Given the description of an element on the screen output the (x, y) to click on. 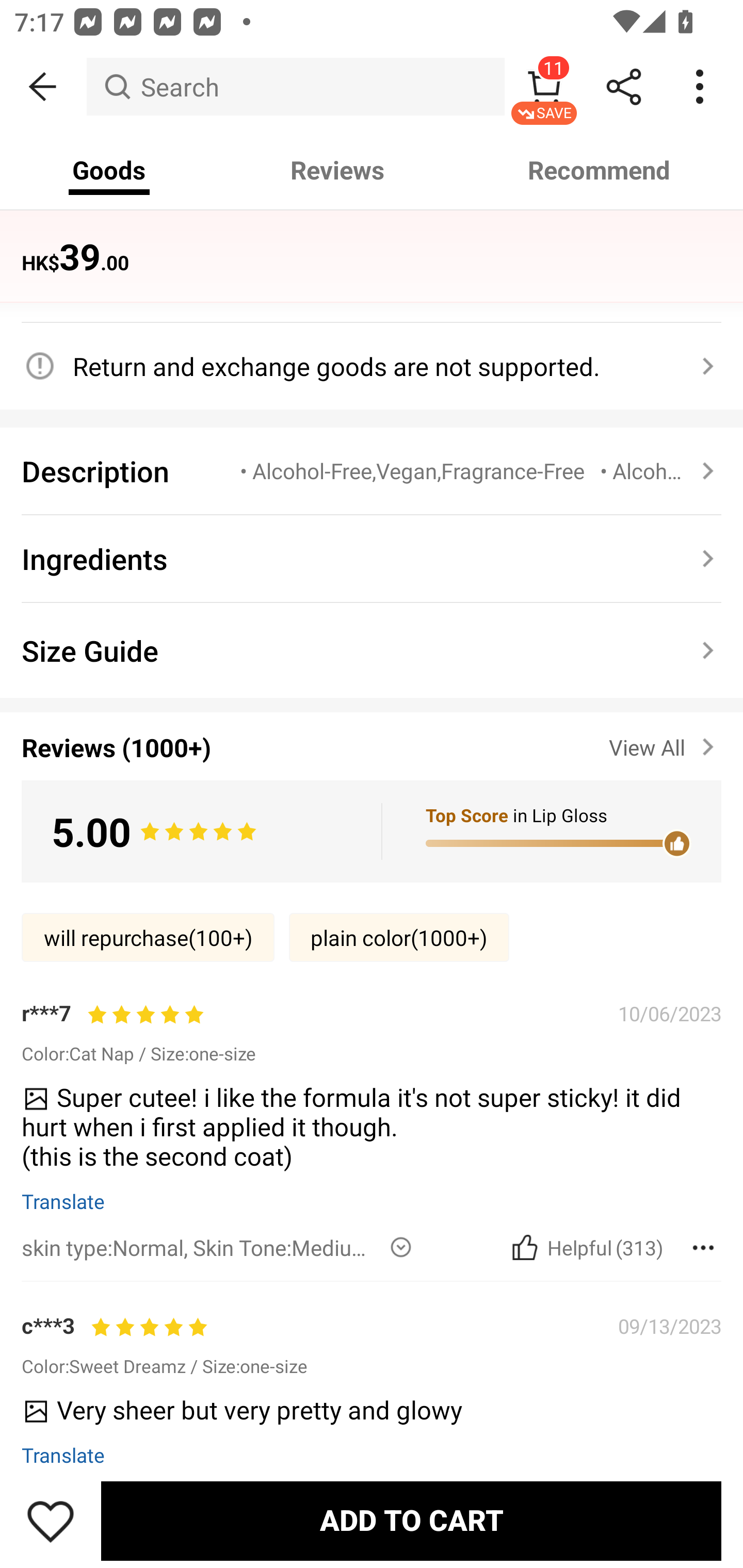
BACK (43, 86)
11 SAVE (543, 87)
Search (295, 87)
Goods (109, 170)
Reviews (337, 170)
Recommend (599, 170)
Return and exchange goods are not supported. (359, 365)
Ingredients (371, 559)
Size Guide (371, 650)
View All (664, 744)
will repurchase(100‎+) (147, 936)
plain color(1000‎+) (398, 936)
Translate (62, 1200)
Cancel Helpful Was this article helpful? (313) (585, 1246)
  Very sheer but very pretty and glowy (363, 1416)
Translate (62, 1454)
ADD TO CART (411, 1520)
Save (50, 1520)
